Given the description of an element on the screen output the (x, y) to click on. 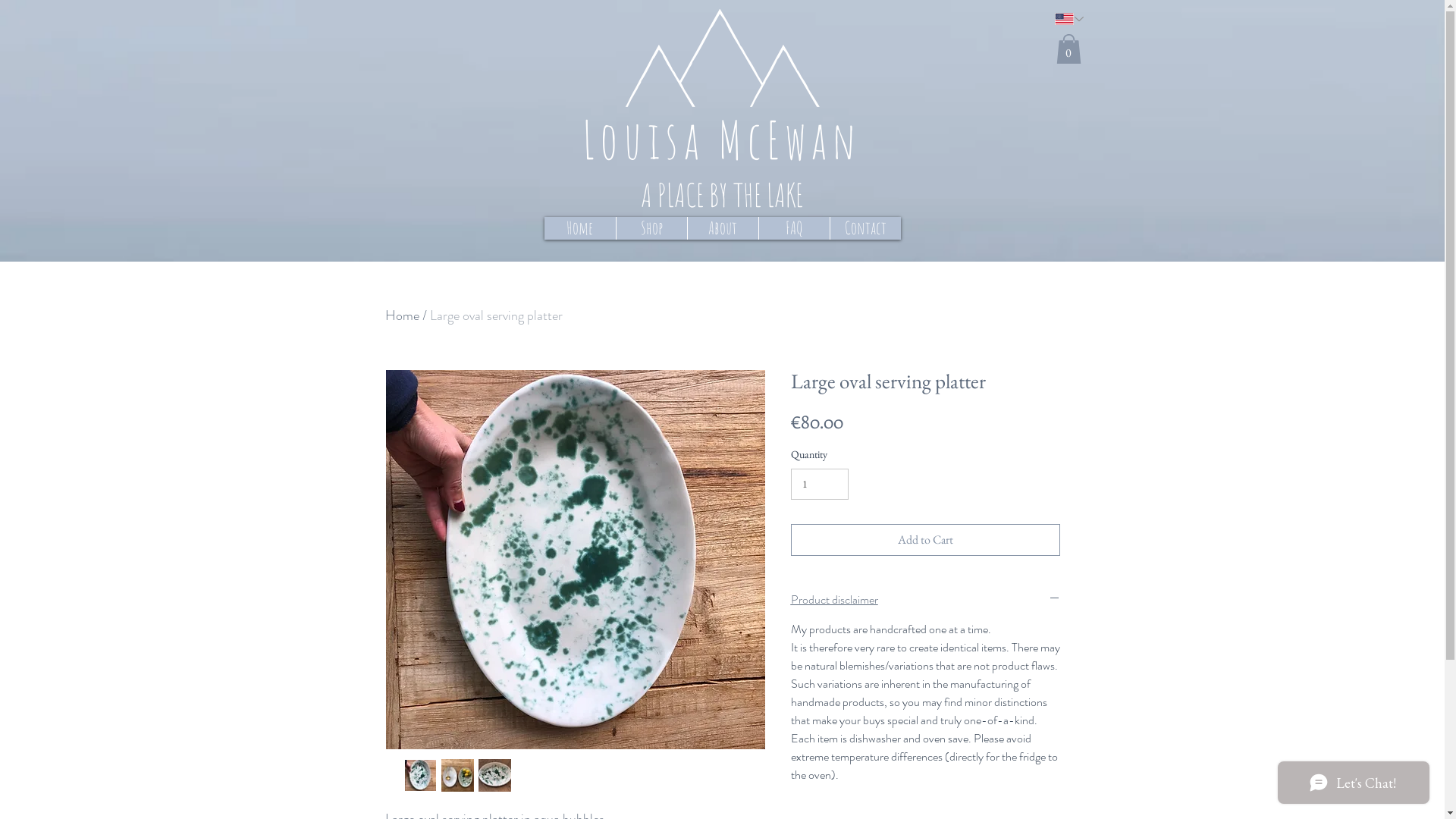
FAQ Element type: text (793, 227)
aplacebythelake-logo-WHITE.png Element type: hover (721, 57)
Product disclaimer Element type: text (924, 599)
Add to Cart Element type: text (924, 539)
0 Element type: text (1067, 48)
About Element type: text (722, 227)
Contact Element type: text (864, 227)
Shop Element type: text (651, 227)
Large oval serving platter Element type: text (495, 315)
Home Element type: text (579, 227)
Home Element type: text (402, 315)
